Given the description of an element on the screen output the (x, y) to click on. 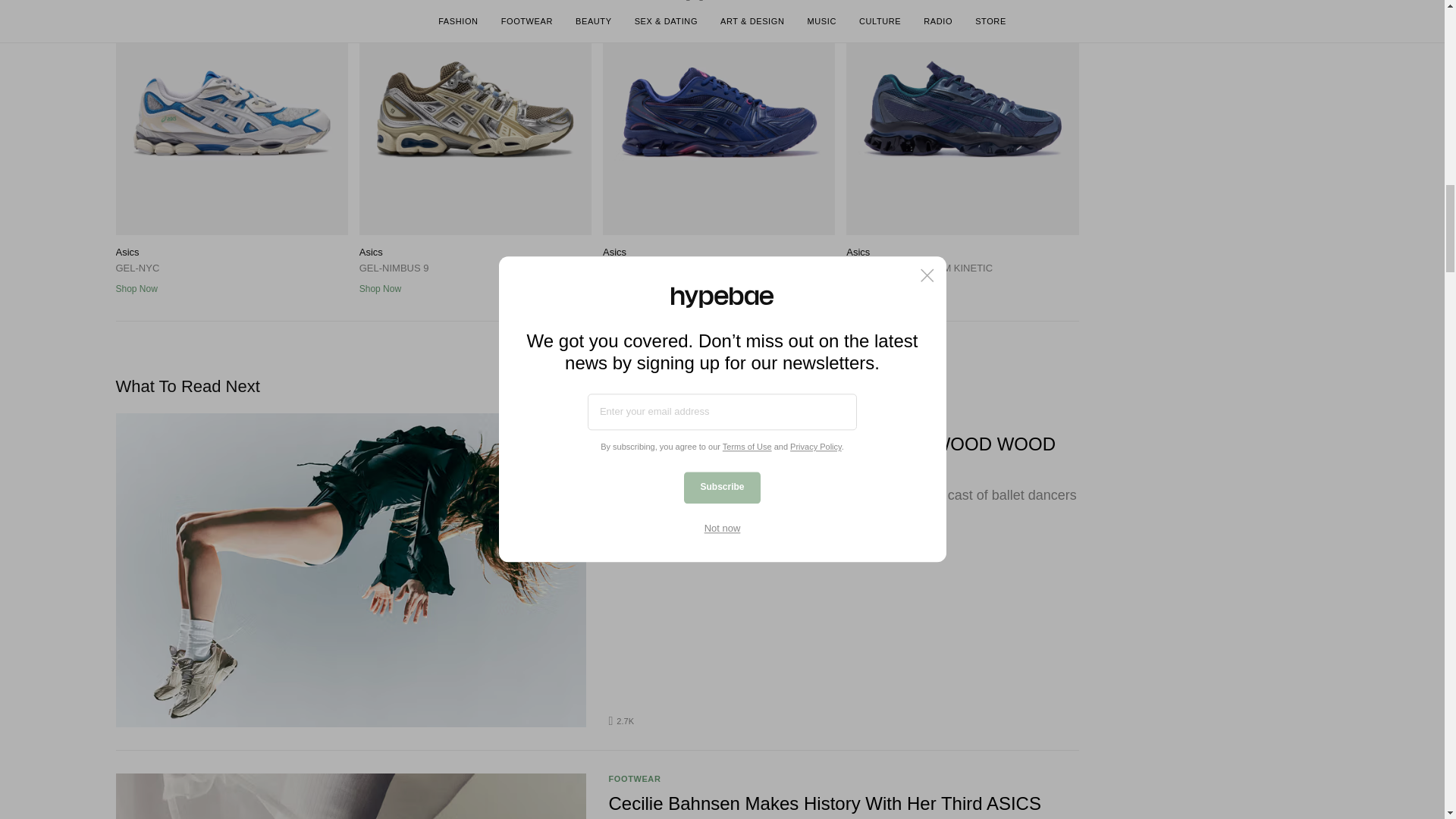
GEL-NIMBUS 9 (475, 117)
Movement Inspires the New ASICS and WOOD WOOD GT-2160 (843, 455)
GEL-NYC (231, 117)
US5-S GEL-QUANTUM KINETIC (961, 117)
Footwear (634, 418)
Asics x 8ON8 GEL-KAYANO 14 (718, 117)
